Given the description of an element on the screen output the (x, y) to click on. 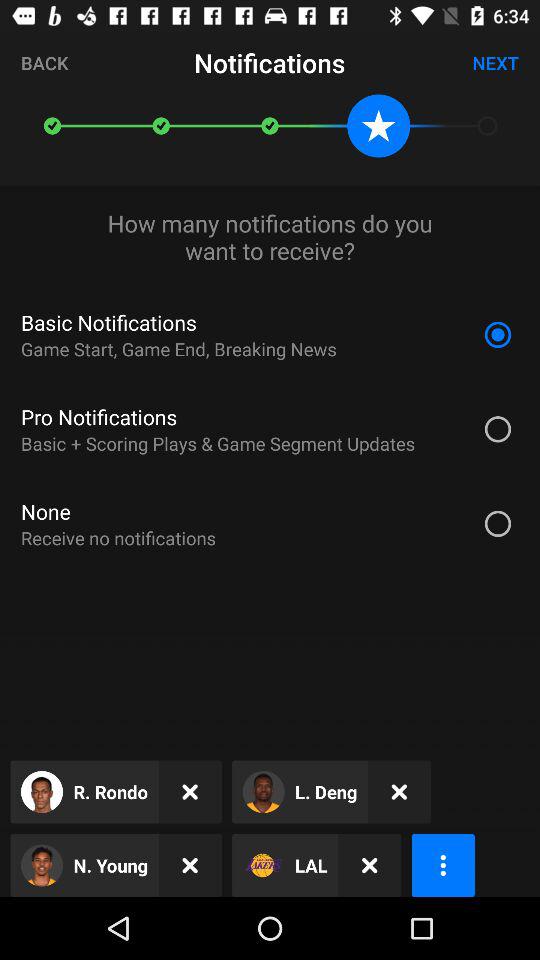
turn on the item next to the lal item (369, 864)
